Given the description of an element on the screen output the (x, y) to click on. 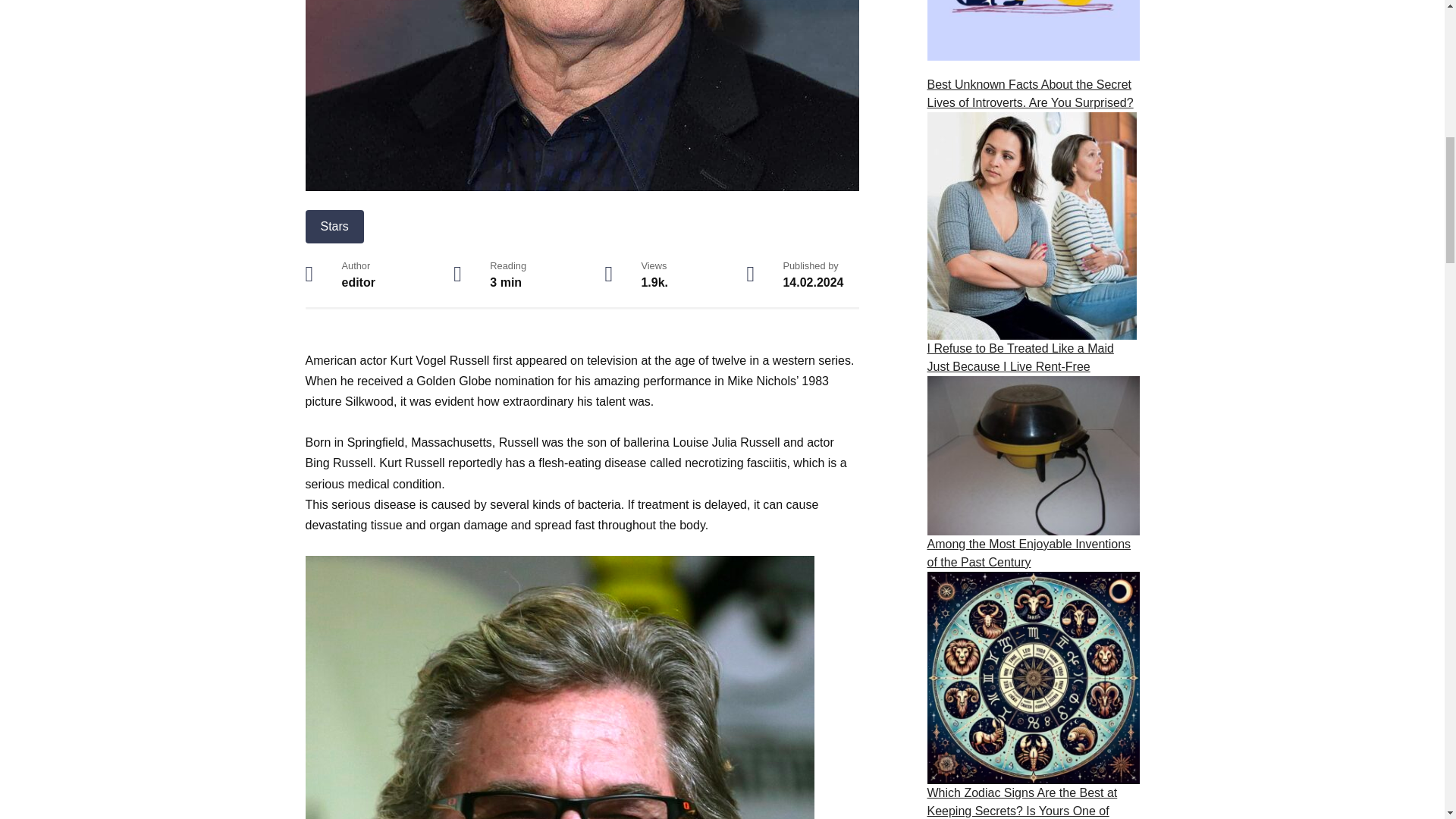
Among the Most Enjoyable Inventions of the Past Century (1028, 552)
Stars (333, 226)
